Given the description of an element on the screen output the (x, y) to click on. 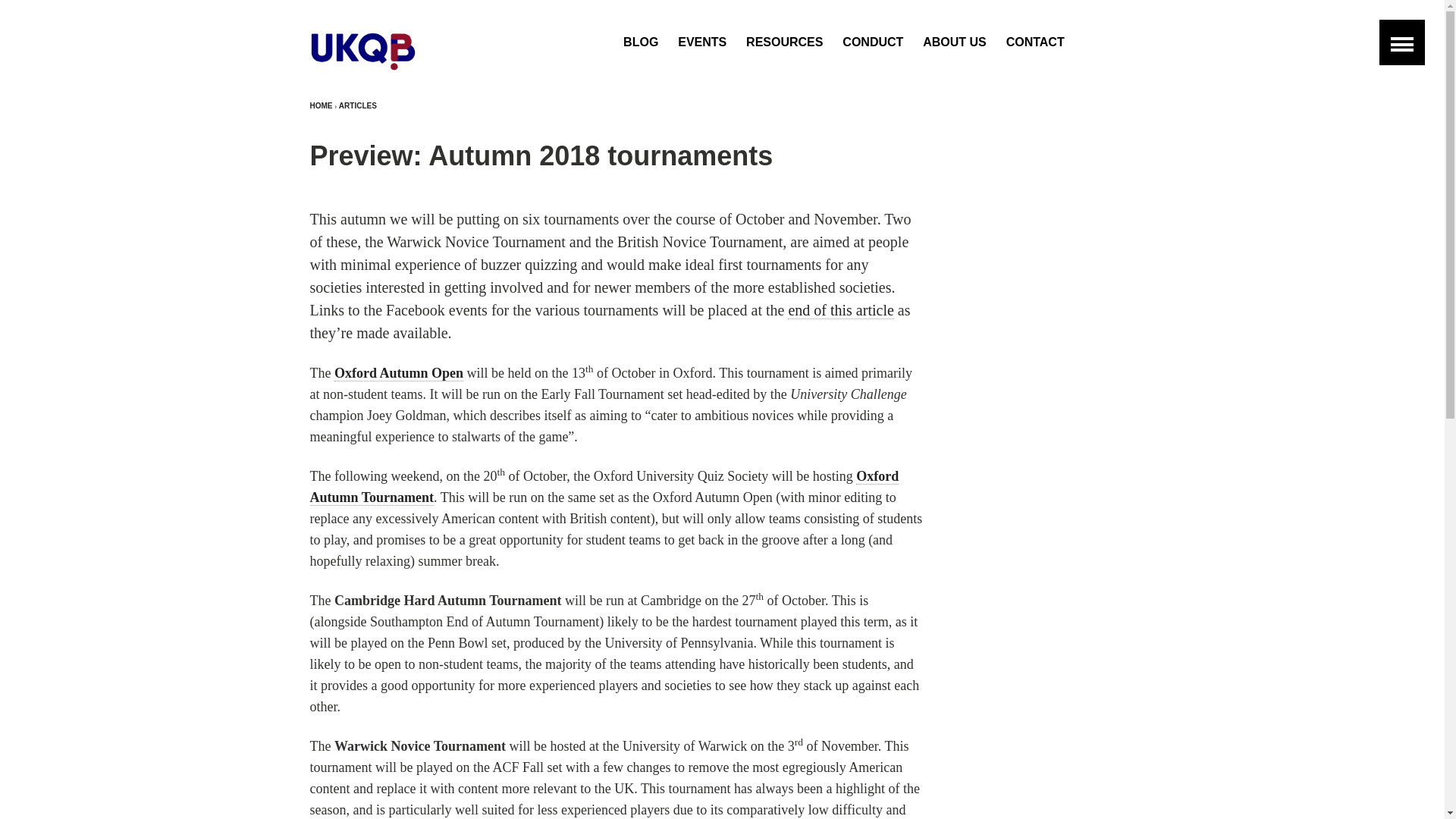
RESOURCES (783, 42)
CONDUCT (872, 42)
ARTICLES (358, 106)
ABOUT US (955, 42)
HOME (319, 106)
EVENTS (702, 42)
CONTACT (1035, 42)
Oxford Autumn Tournament (603, 487)
end of this article (840, 310)
Oxford Autumn Open (398, 373)
